Given the description of an element on the screen output the (x, y) to click on. 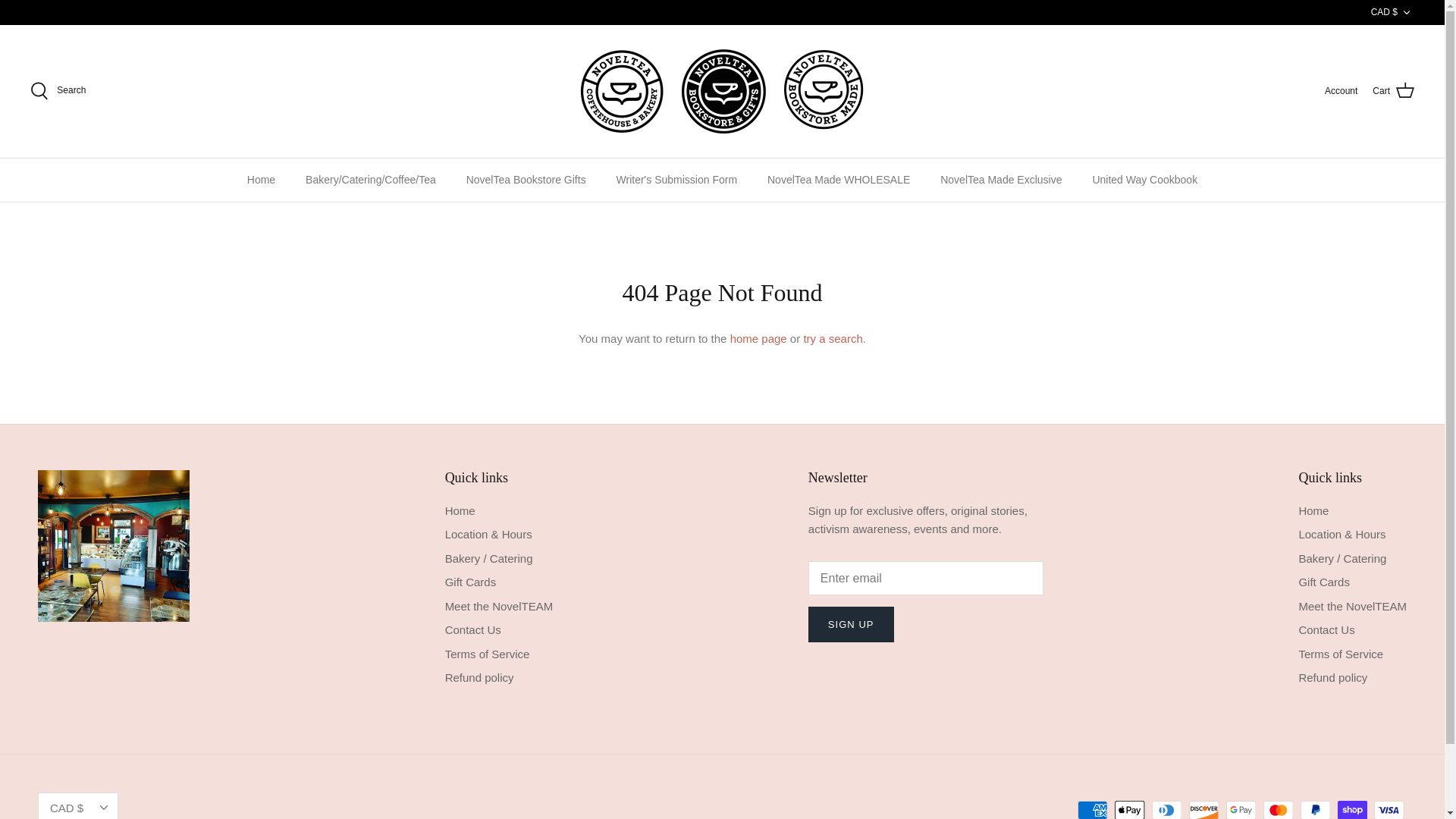
Diners Club (1166, 809)
Down (103, 807)
Mastercard (1277, 809)
Account (1340, 91)
Shop Pay (1352, 809)
Visa (1388, 809)
Down (1406, 12)
Google Pay (1240, 809)
Cart (1393, 90)
American Express (1092, 809)
